Given the description of an element on the screen output the (x, y) to click on. 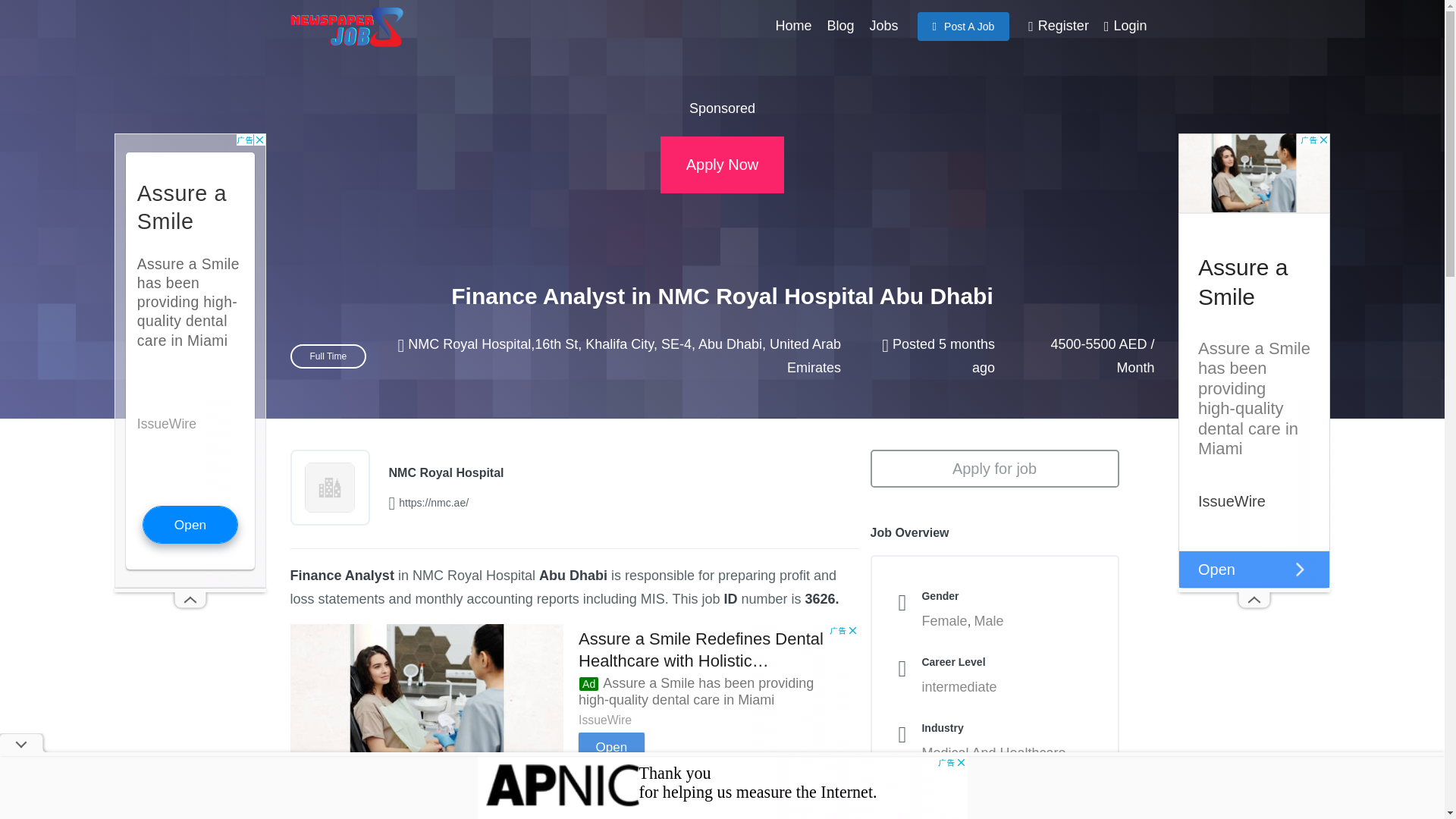
Register (1058, 26)
Female (943, 620)
Home (793, 26)
Apply for job (994, 467)
Login (1125, 26)
Male (989, 620)
Post A Job (963, 26)
Medical And Healthcare (993, 752)
Jobs (883, 26)
